Given the description of an element on the screen output the (x, y) to click on. 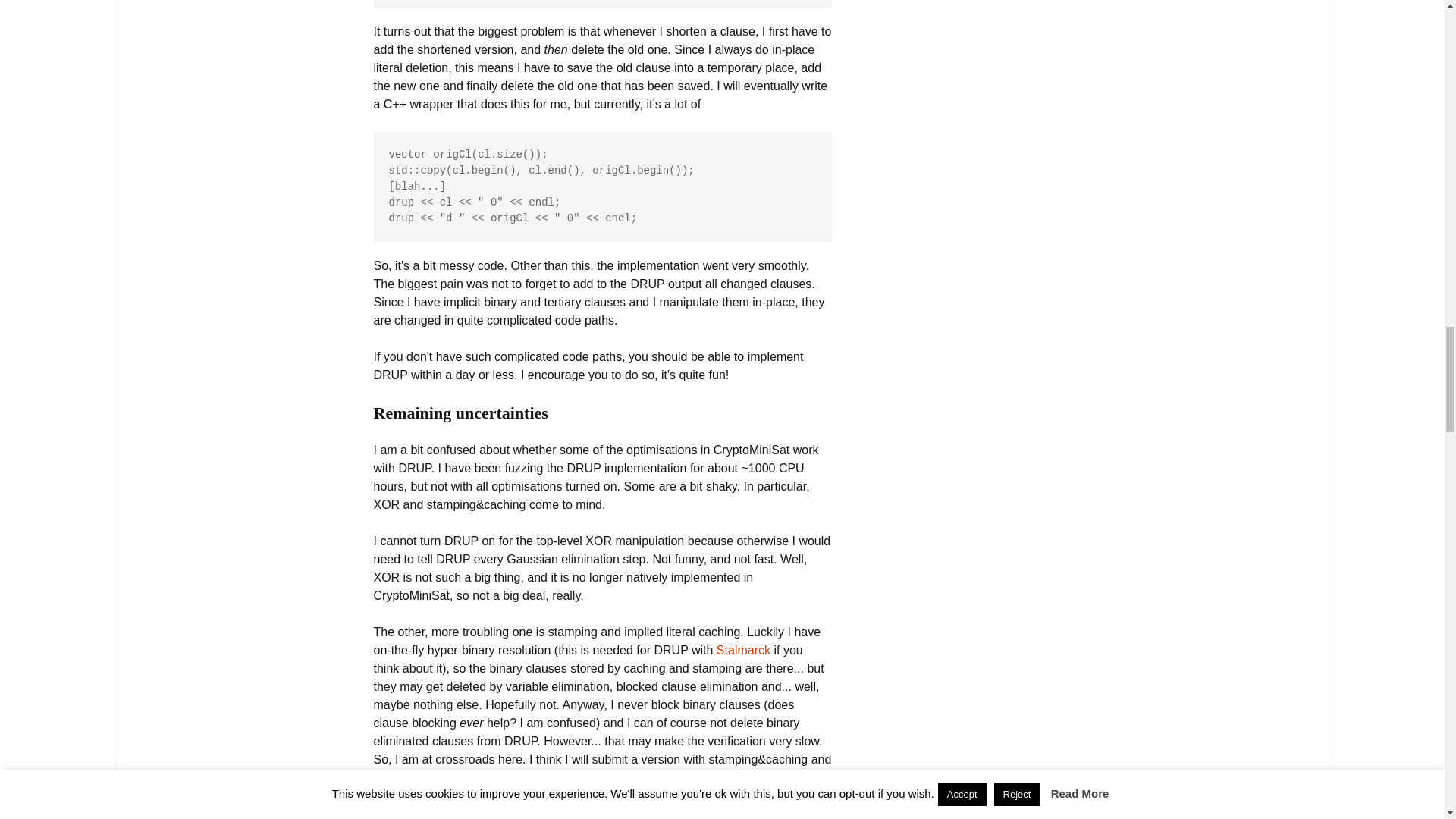
Stalmarck (743, 649)
